Given the description of an element on the screen output the (x, y) to click on. 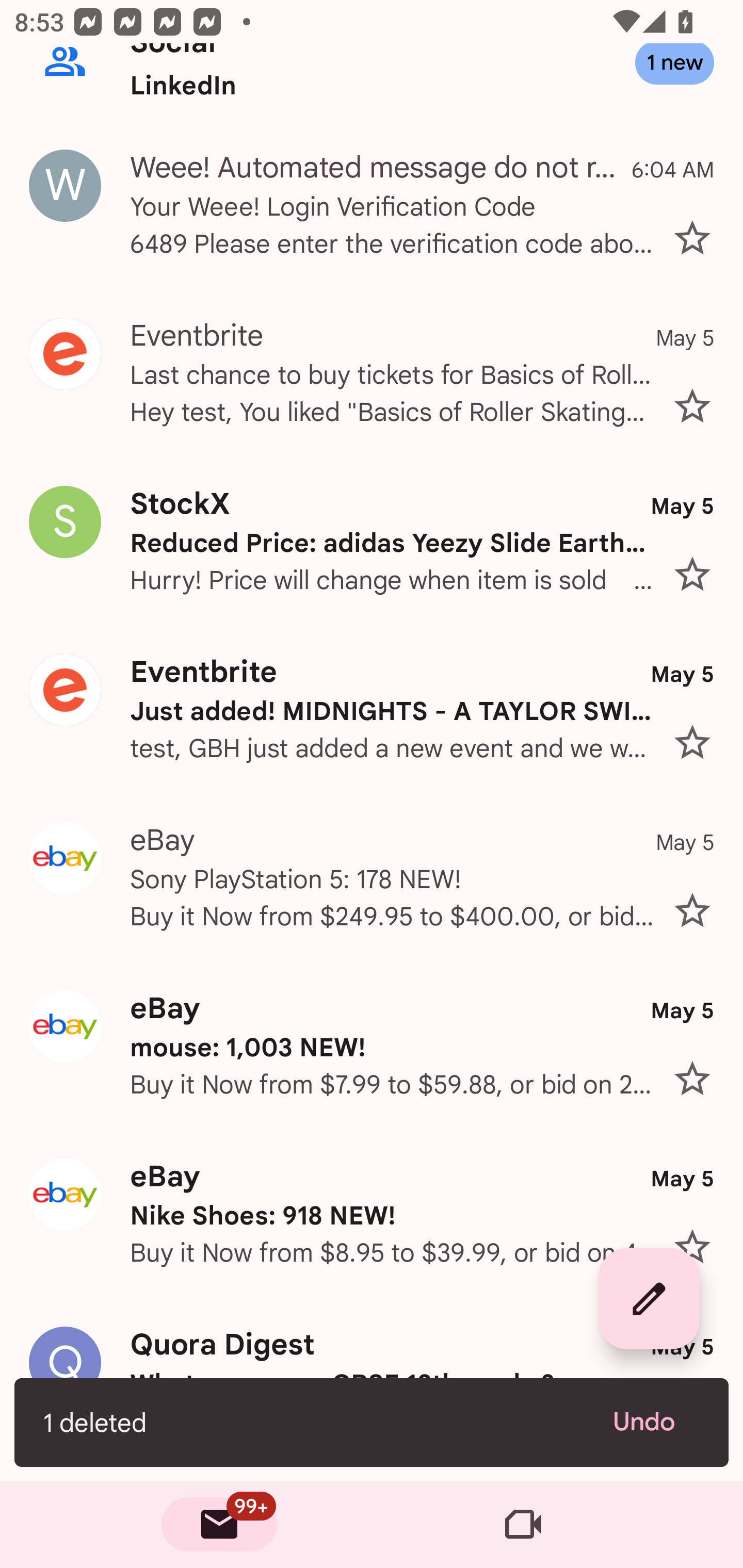
Social LinkedIn 1 new (371, 81)
Compose (648, 1299)
Undo (655, 1422)
Meet (523, 1524)
